Given the description of an element on the screen output the (x, y) to click on. 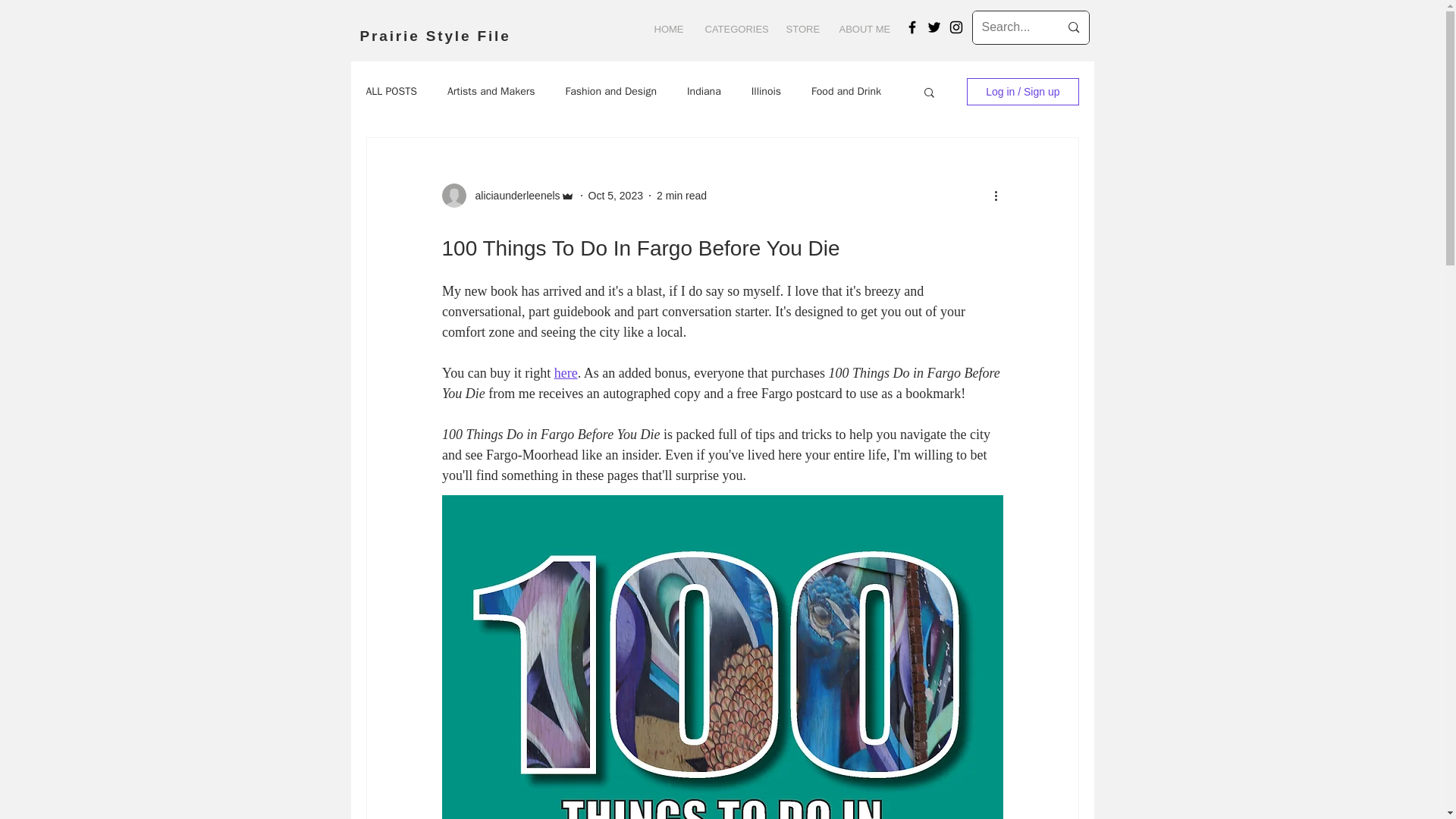
ABOUT ME (863, 29)
Food and Drink (845, 91)
2 min read (681, 195)
STORE (801, 29)
Prairie Style File (435, 35)
Indiana (703, 91)
Fashion and Design (610, 91)
Illinois (765, 91)
Oct 5, 2023 (615, 195)
HOME (668, 29)
ALL POSTS (390, 91)
Artists and Makers (490, 91)
aliciaunderleenels (512, 195)
